Given the description of an element on the screen output the (x, y) to click on. 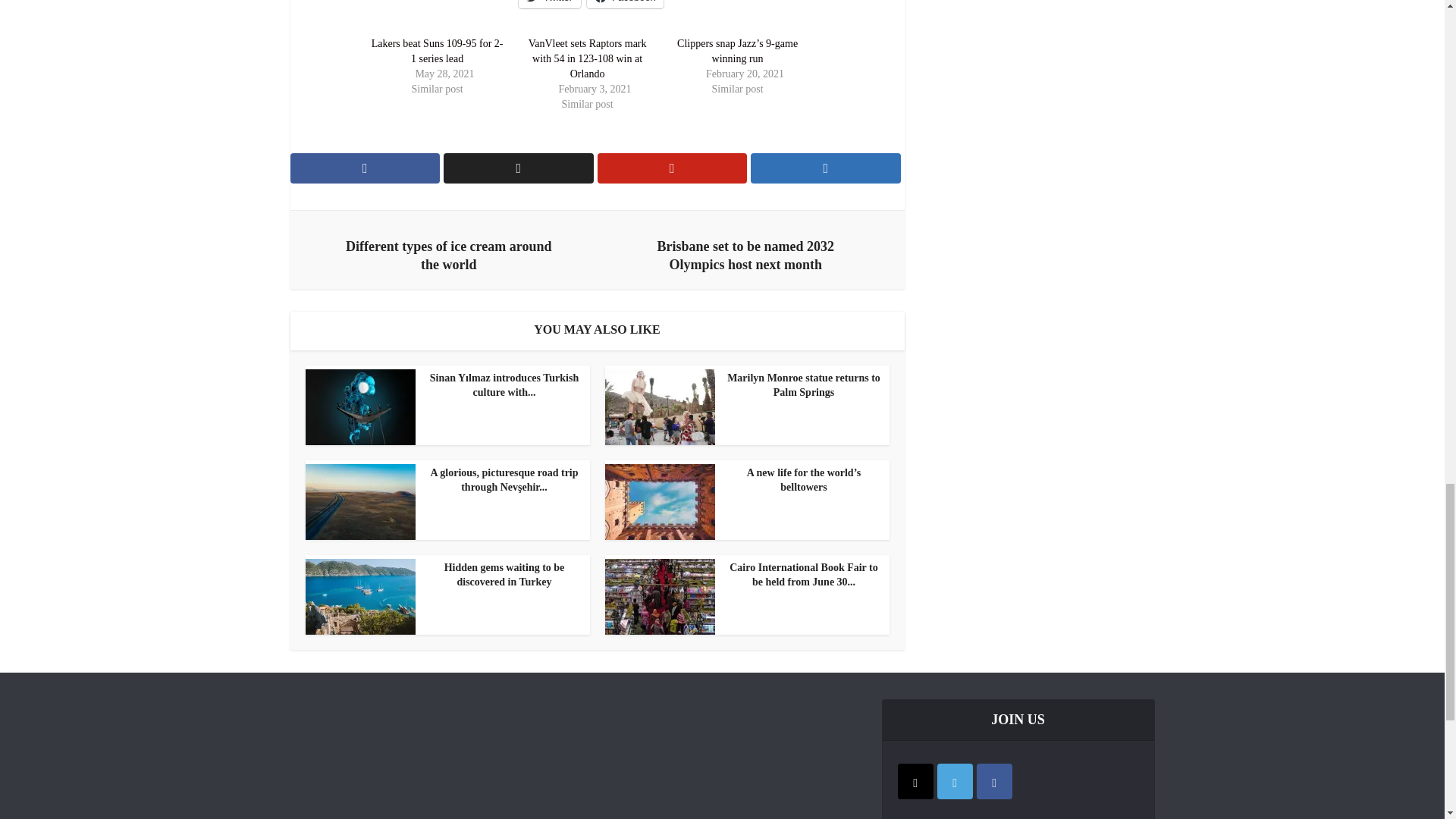
Lakers beat Suns 109-95 for 2-1 series lead (437, 51)
Brisbane set to be named 2032 Olympics host next month (745, 251)
Click to share on Twitter (549, 4)
Twitter (549, 4)
Lakers beat Suns 109-95 for 2-1 series lead (437, 51)
VanVleet sets Raptors mark with 54 in 123-108 win at Orlando (587, 58)
Different types of ice cream around the world (449, 251)
VanVleet sets Raptors mark with 54 in 123-108 win at Orlando (587, 58)
Click to share on Facebook (624, 4)
Marilyn Monroe statue returns to Palm Springs (743, 385)
Facebook (624, 4)
